Given the description of an element on the screen output the (x, y) to click on. 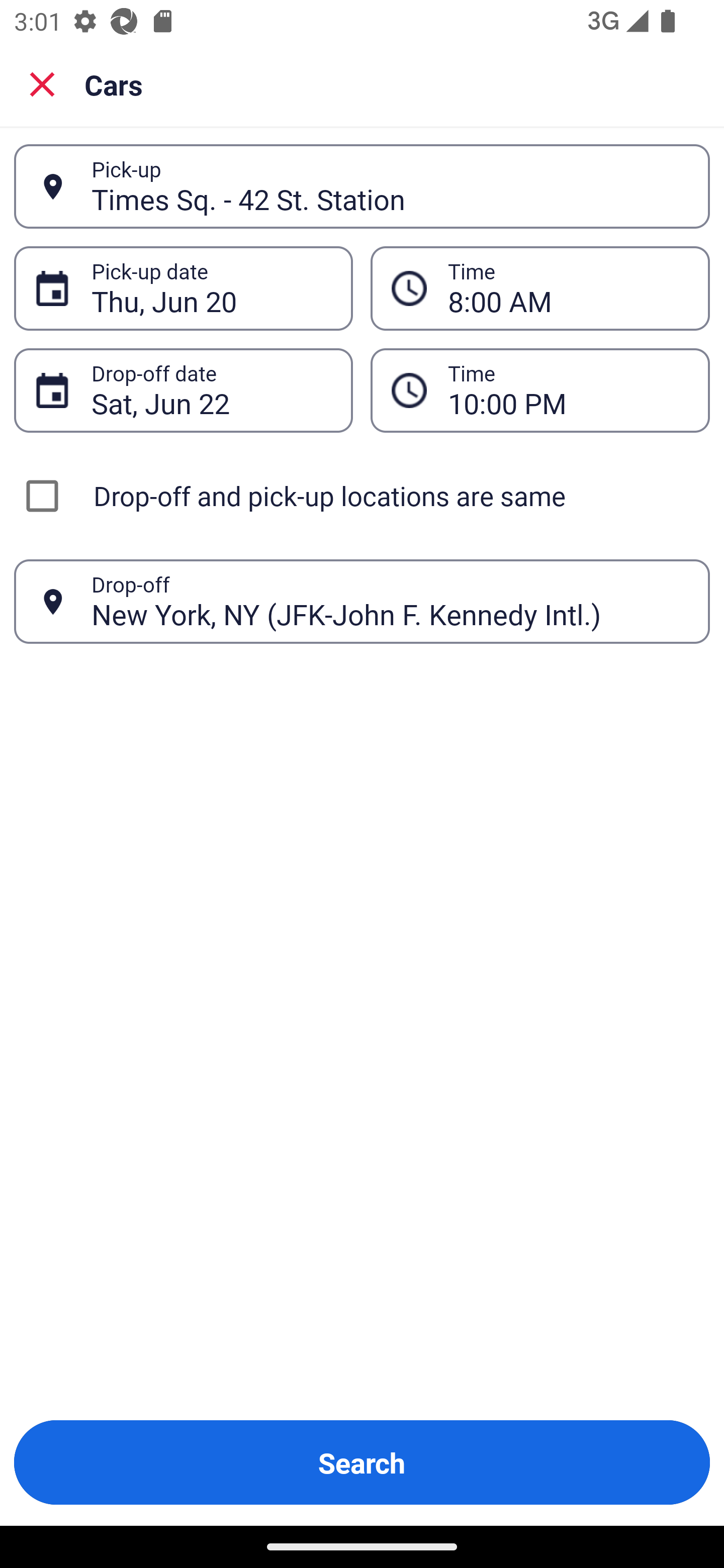
Close search screen (41, 83)
Times Sq. - 42 St. Station Pick-up (361, 186)
Times Sq. - 42 St. Station (389, 186)
Thu, Jun 20 Pick-up date (183, 288)
8:00 AM (540, 288)
Thu, Jun 20 (211, 288)
8:00 AM (568, 288)
Sat, Jun 22 Drop-off date (183, 390)
10:00 PM (540, 390)
Sat, Jun 22 (211, 390)
10:00 PM (568, 390)
Drop-off and pick-up locations are same (361, 495)
New York, NY (JFK-John F. Kennedy Intl.) Drop-off (361, 601)
New York, NY (JFK-John F. Kennedy Intl.) (389, 601)
Search Button Search (361, 1462)
